Given the description of an element on the screen output the (x, y) to click on. 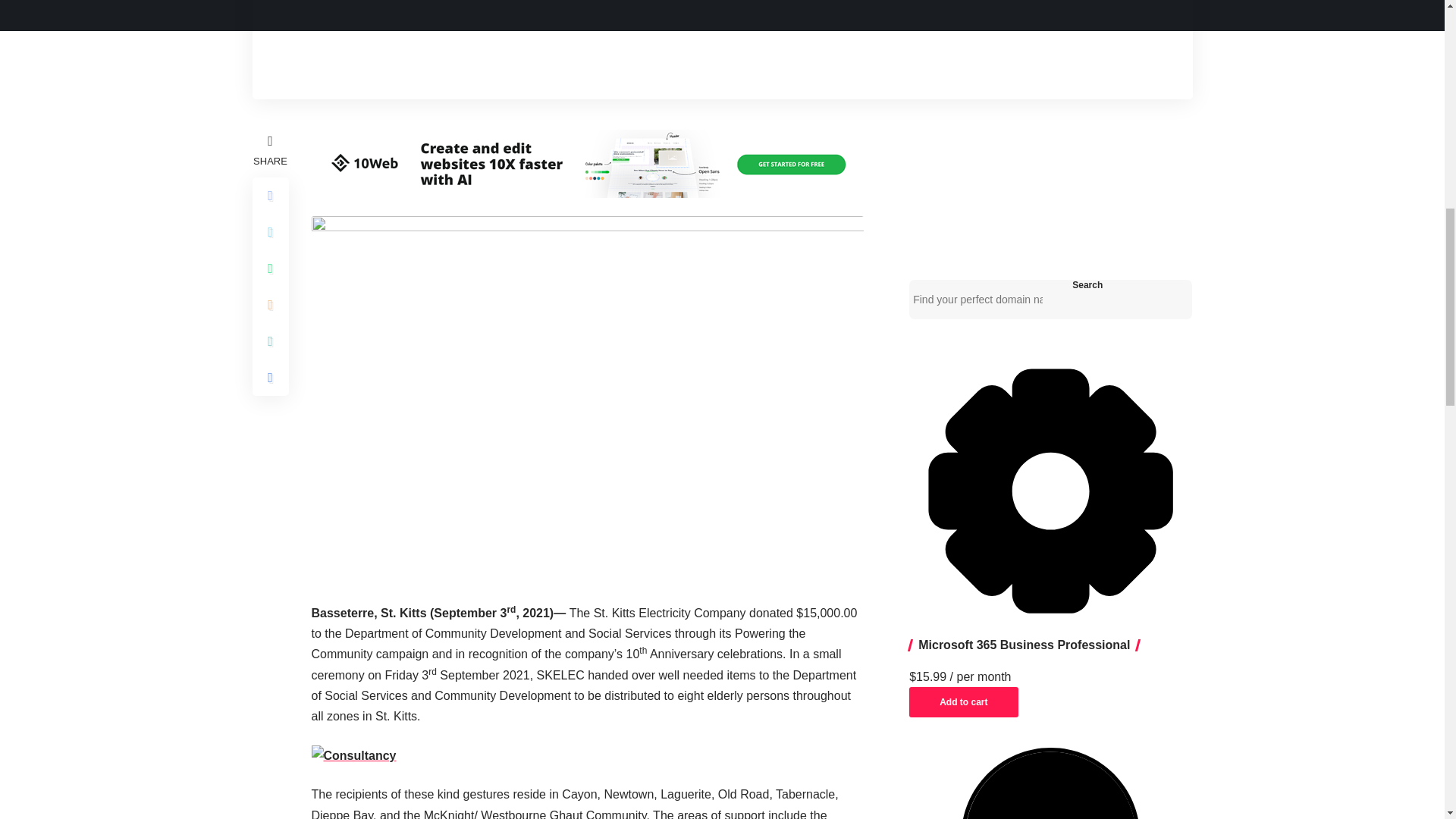
Search (1087, 285)
Search (1087, 285)
Additional Products (1050, 490)
WordPress (1050, 783)
